Given the description of an element on the screen output the (x, y) to click on. 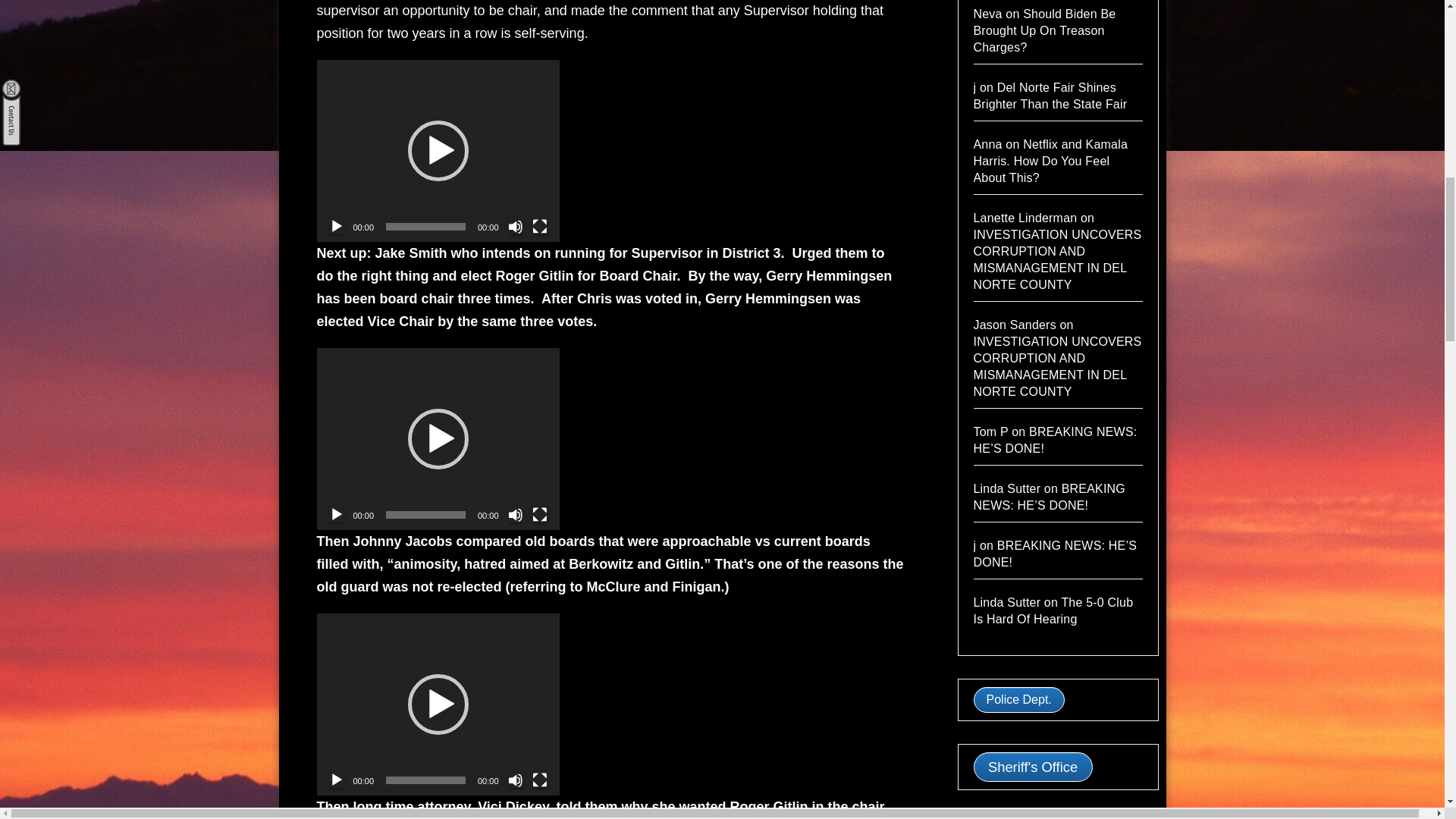
Mute (515, 226)
Play (336, 780)
Play (336, 226)
Fullscreen (539, 780)
Mute (515, 780)
Play (336, 514)
Fullscreen (539, 226)
Mute (515, 514)
Fullscreen (539, 514)
